Given the description of an element on the screen output the (x, y) to click on. 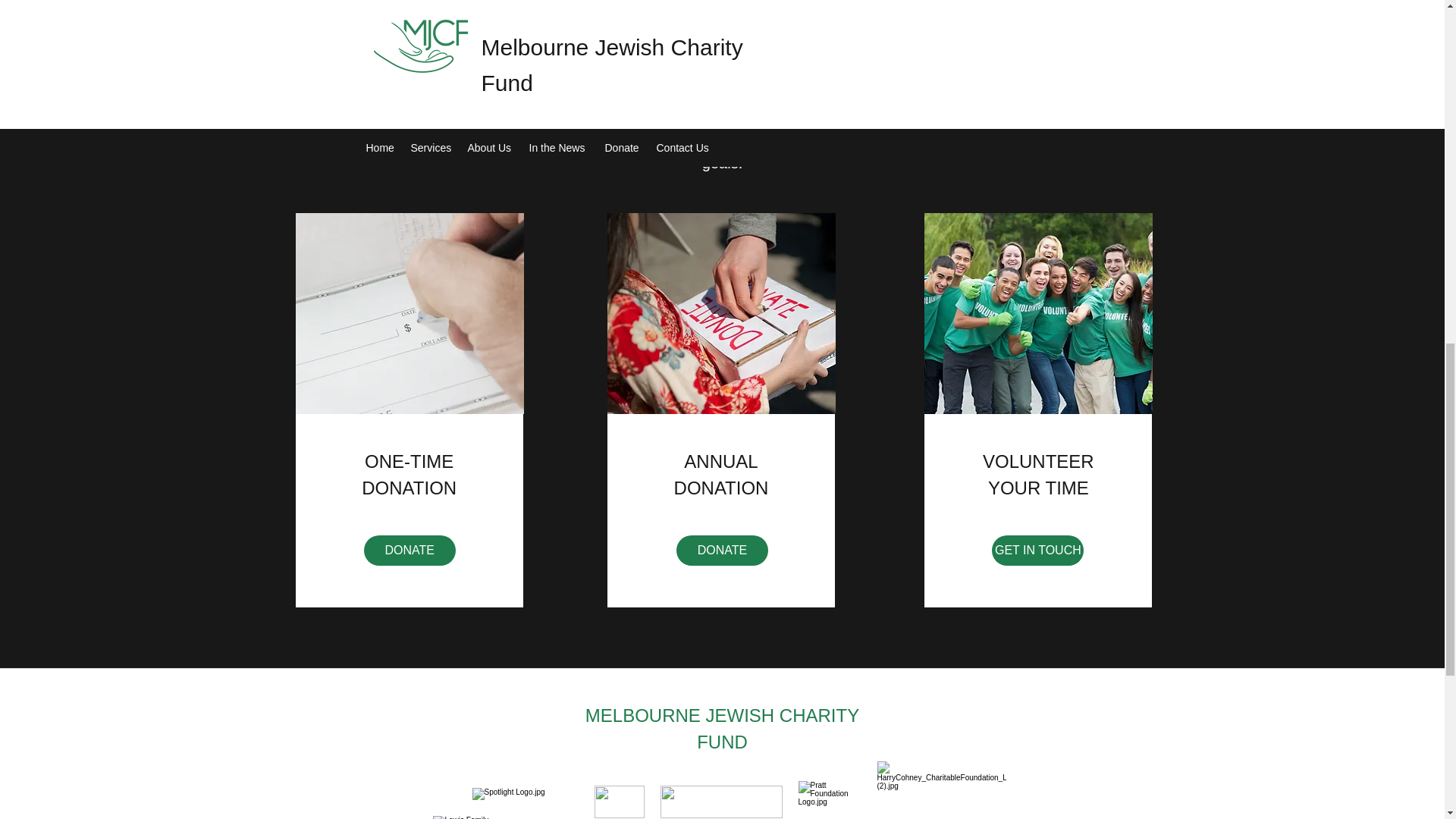
Bendigo Bank.png (619, 801)
DONATE (409, 550)
GET IN TOUCH (1037, 550)
DONATE (722, 550)
